Given the description of an element on the screen output the (x, y) to click on. 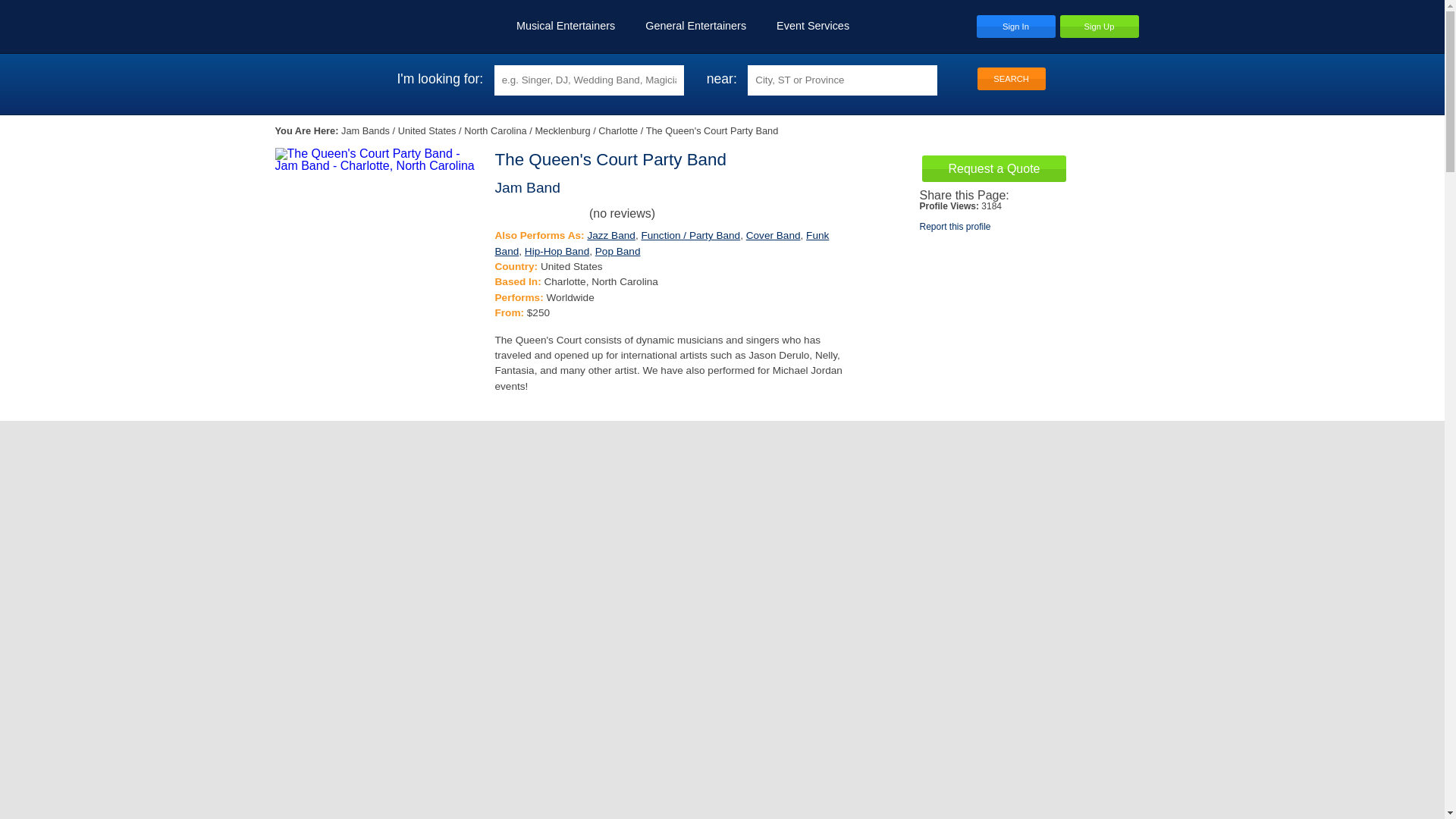
Sign In To Your Account (1015, 26)
Menu (1154, 25)
Sign Up Now (1098, 26)
Sign Up (1098, 26)
Entertainers Worldwide Ltd Homepage (334, 26)
Sign In (1015, 26)
